Given the description of an element on the screen output the (x, y) to click on. 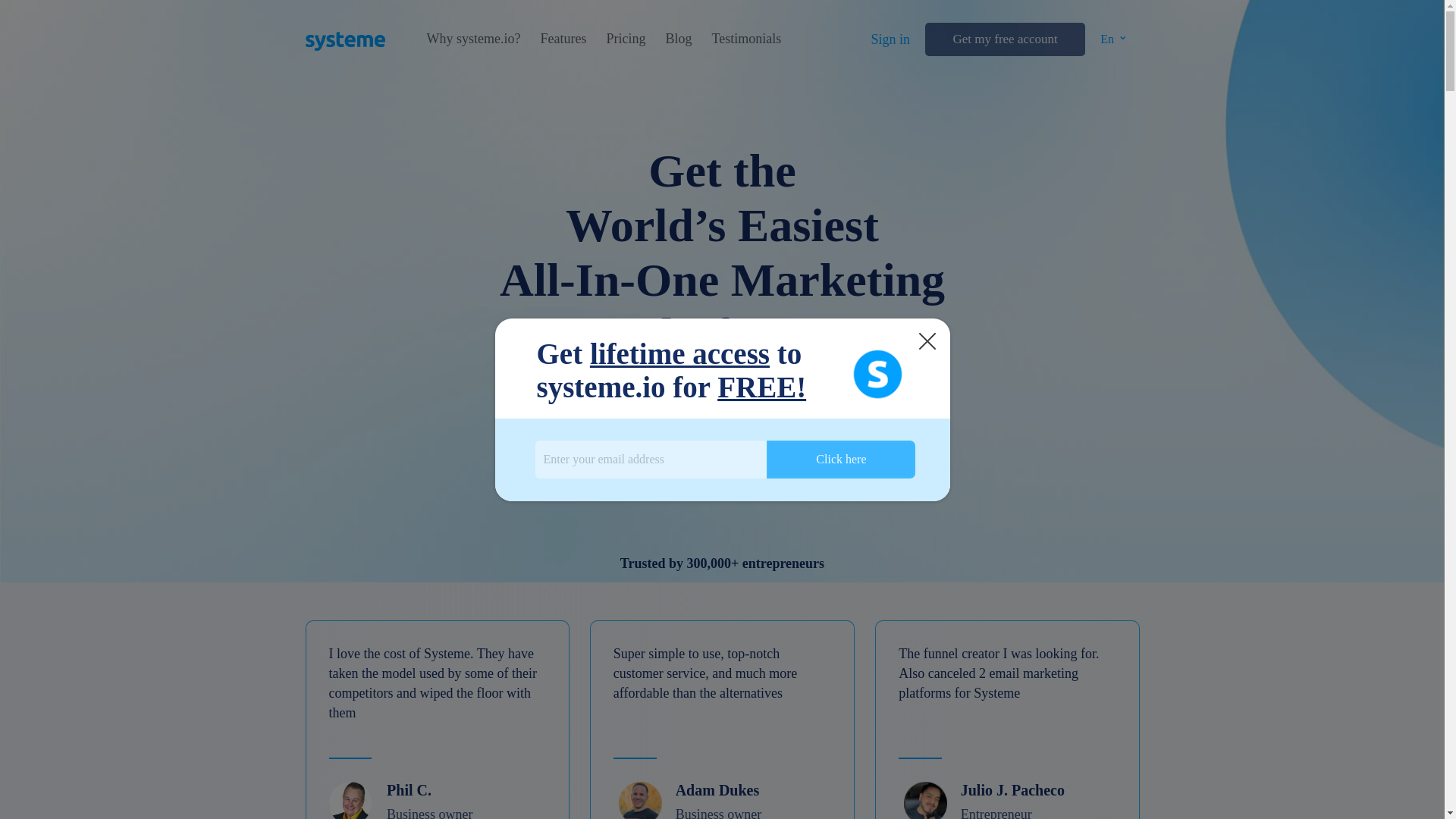
Features (563, 38)
Get my free account (1004, 39)
Sign in (890, 39)
Blog (678, 38)
Testimonials (745, 38)
Why systeme.io? (472, 38)
Pricing (625, 38)
